Given the description of an element on the screen output the (x, y) to click on. 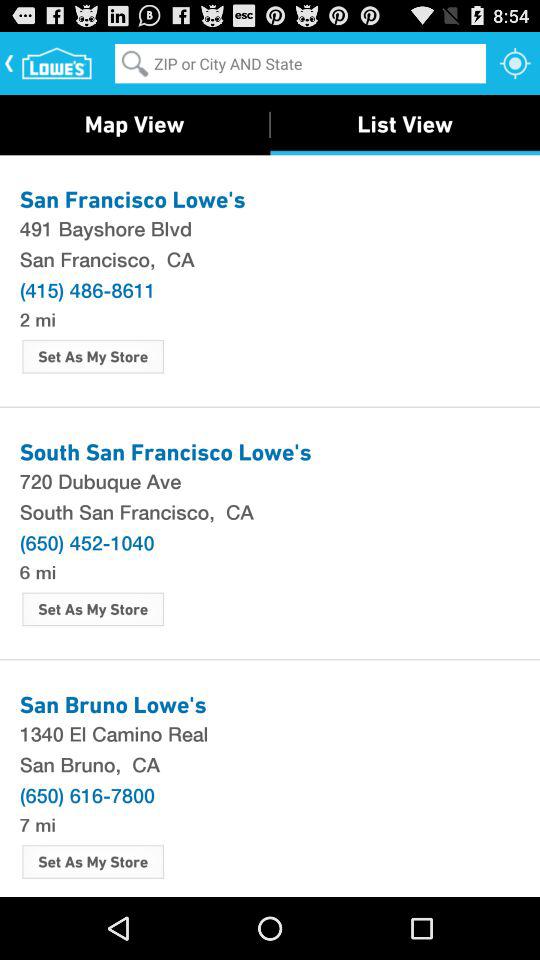
press (415) 486-8611 item (87, 289)
